Given the description of an element on the screen output the (x, y) to click on. 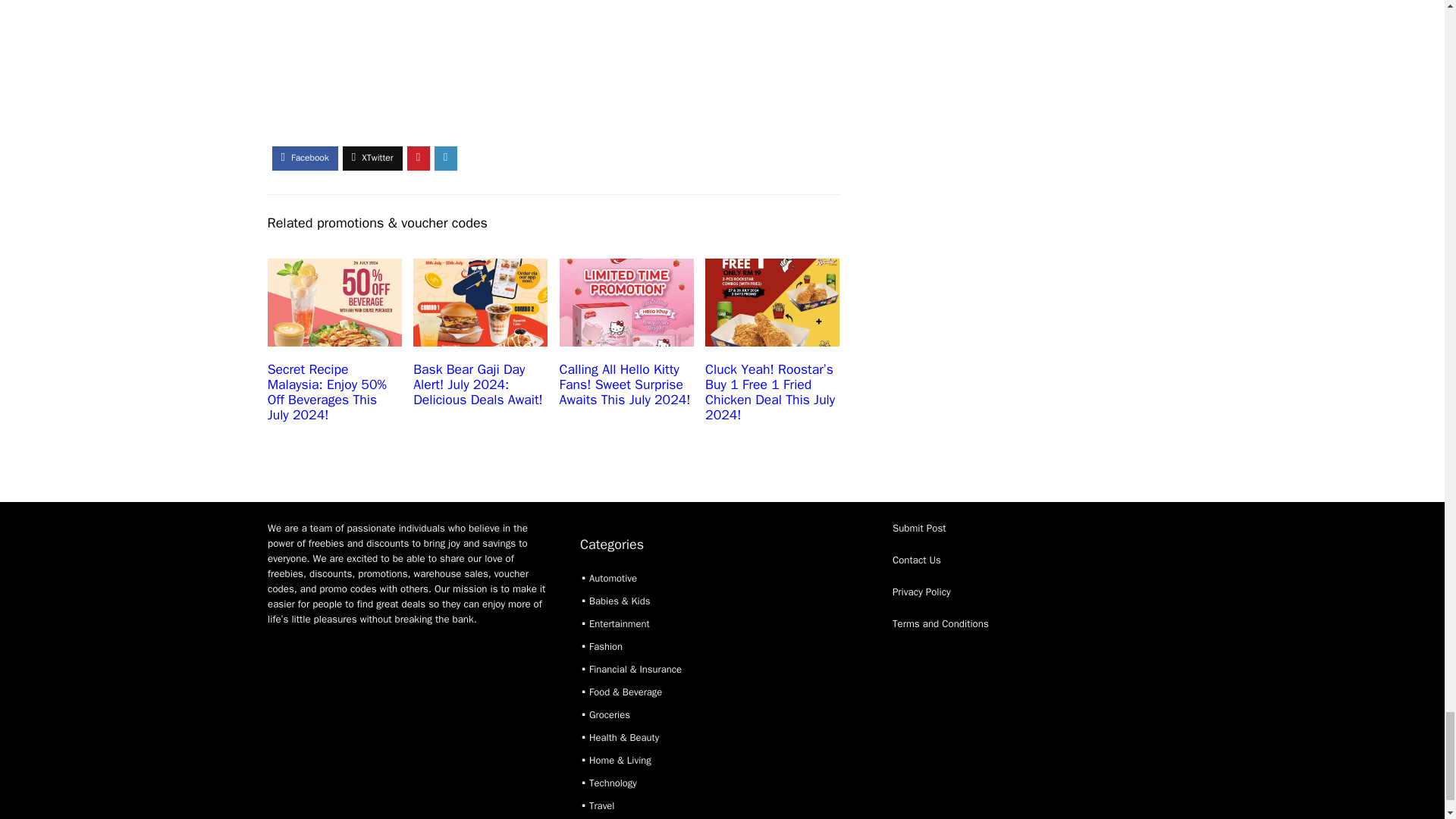
Bask Bear Gaji Day Alert! July 2024: Delicious Deals Await! (478, 384)
Automotive (613, 577)
